Given the description of an element on the screen output the (x, y) to click on. 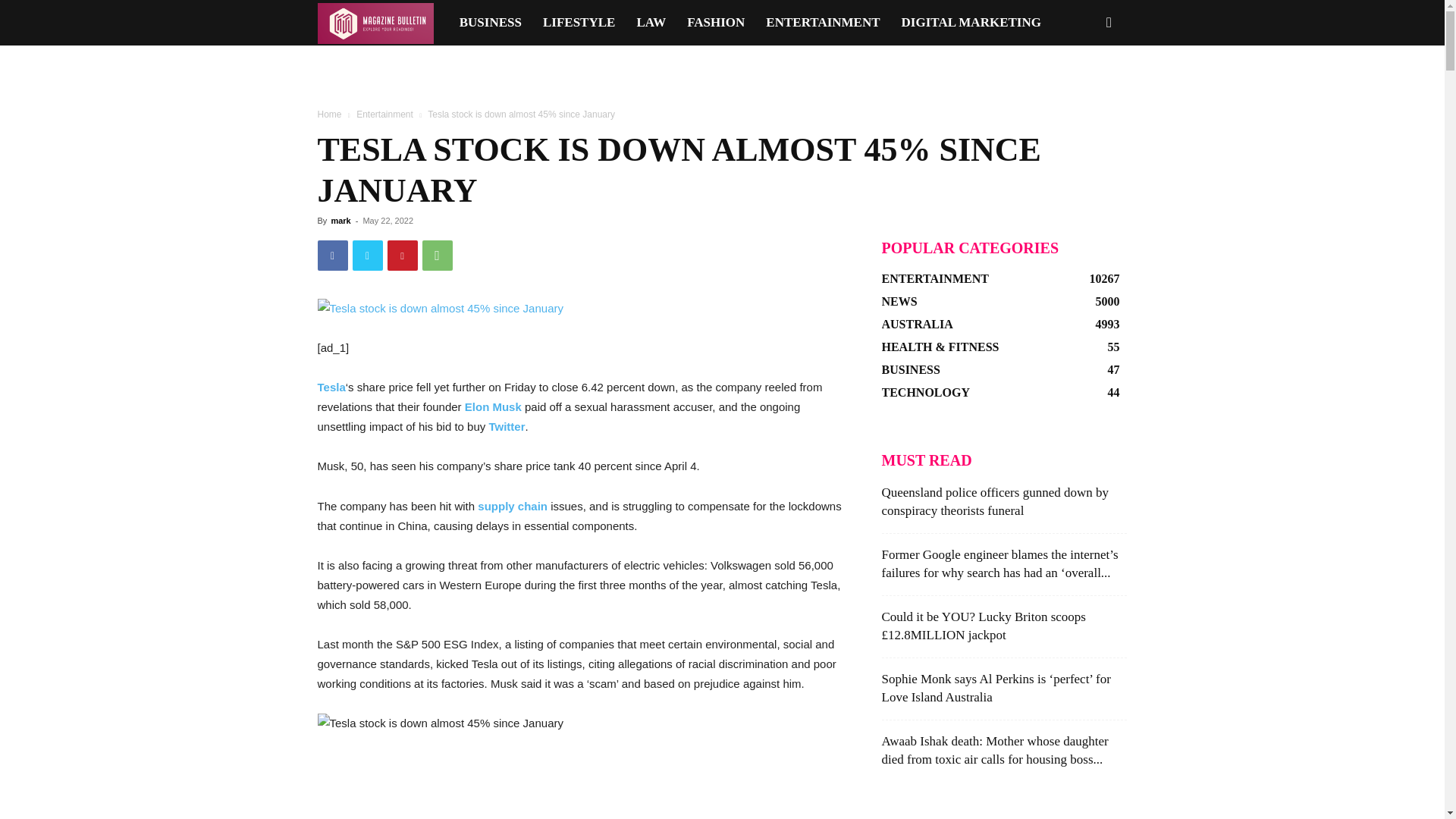
Twitter (505, 426)
Twitter (366, 255)
FASHION (716, 22)
View all posts in Entertainment (384, 113)
Magazine Bulletin (382, 22)
LAW (651, 22)
Entertainment (384, 113)
LIFESTYLE (579, 22)
Home (328, 113)
DIGITAL MARKETING (971, 22)
Search (1085, 87)
Pinterest (401, 255)
Tesla (331, 386)
Elon Musk (492, 406)
Magazinebulletin (374, 22)
